Given the description of an element on the screen output the (x, y) to click on. 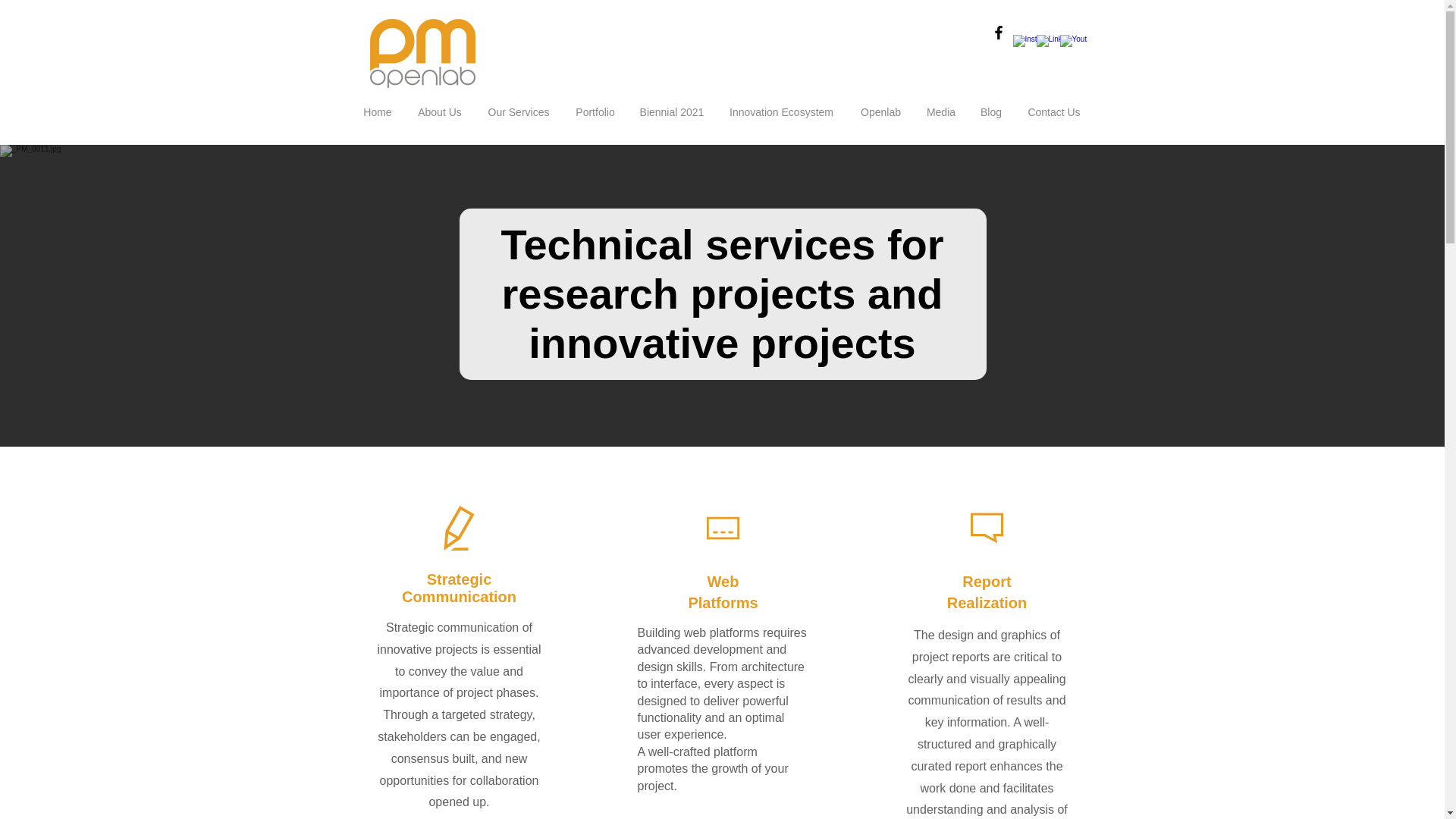
Biennial 2021 (670, 112)
Home (377, 112)
Openlab (880, 112)
Innovation Ecosystem (781, 112)
About Us (440, 112)
Logo PMopenlab (422, 52)
Media (941, 112)
Contact Us (1054, 112)
Portfolio (595, 112)
Blog (990, 112)
